Given the description of an element on the screen output the (x, y) to click on. 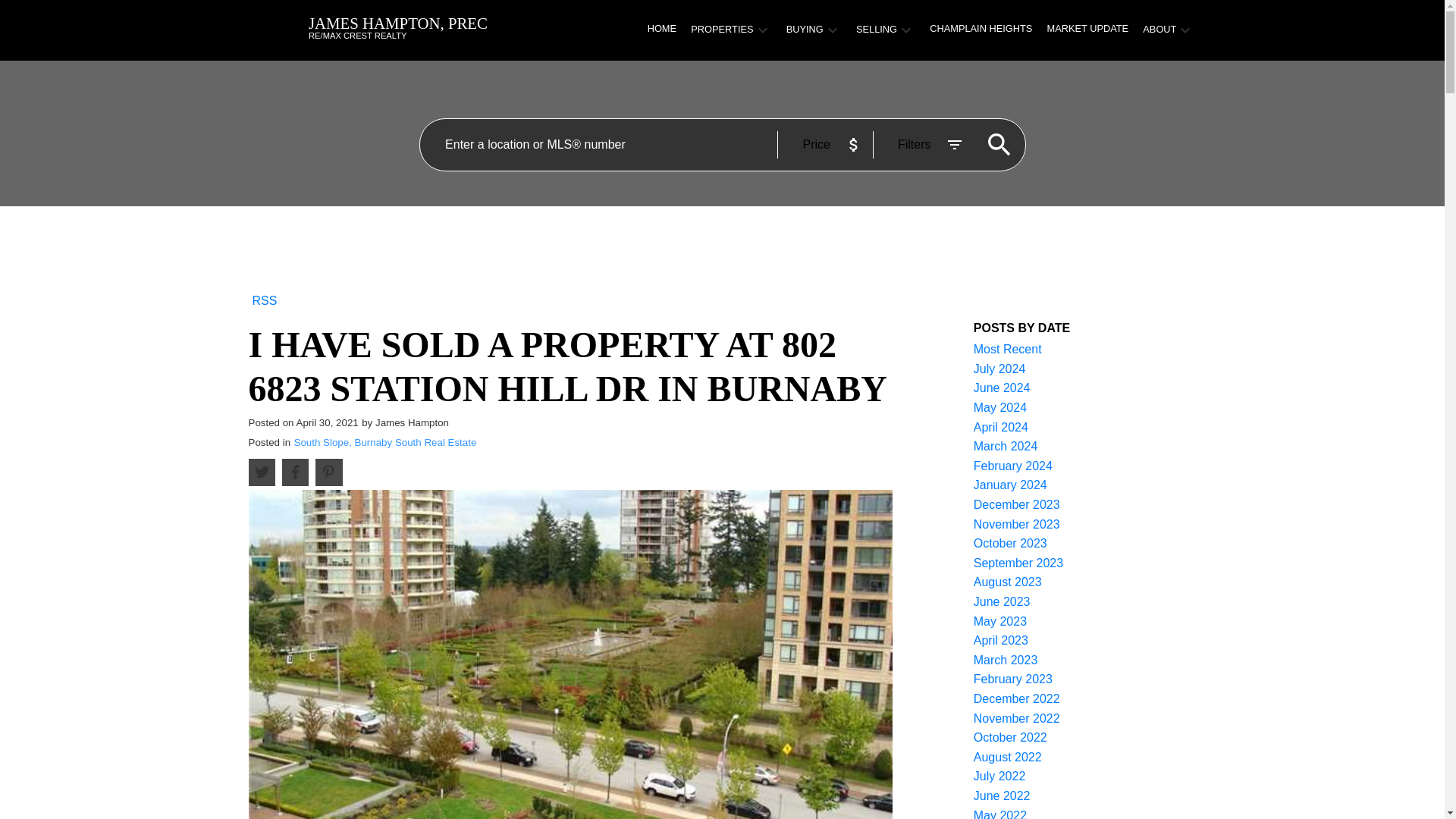
September 2023 (1018, 562)
HOME (662, 29)
MARKET UPDATE (1087, 29)
May 2023 (1000, 621)
August 2023 (1008, 581)
RSS (264, 299)
January 2024 (1010, 484)
December 2023 (1016, 504)
April 2024 (1000, 427)
June 2024 (1002, 387)
March 2024 (1006, 445)
Most Recent (1008, 349)
October 2023 (1010, 543)
July 2024 (1000, 368)
South Slope, Burnaby South Real Estate (385, 441)
